Given the description of an element on the screen output the (x, y) to click on. 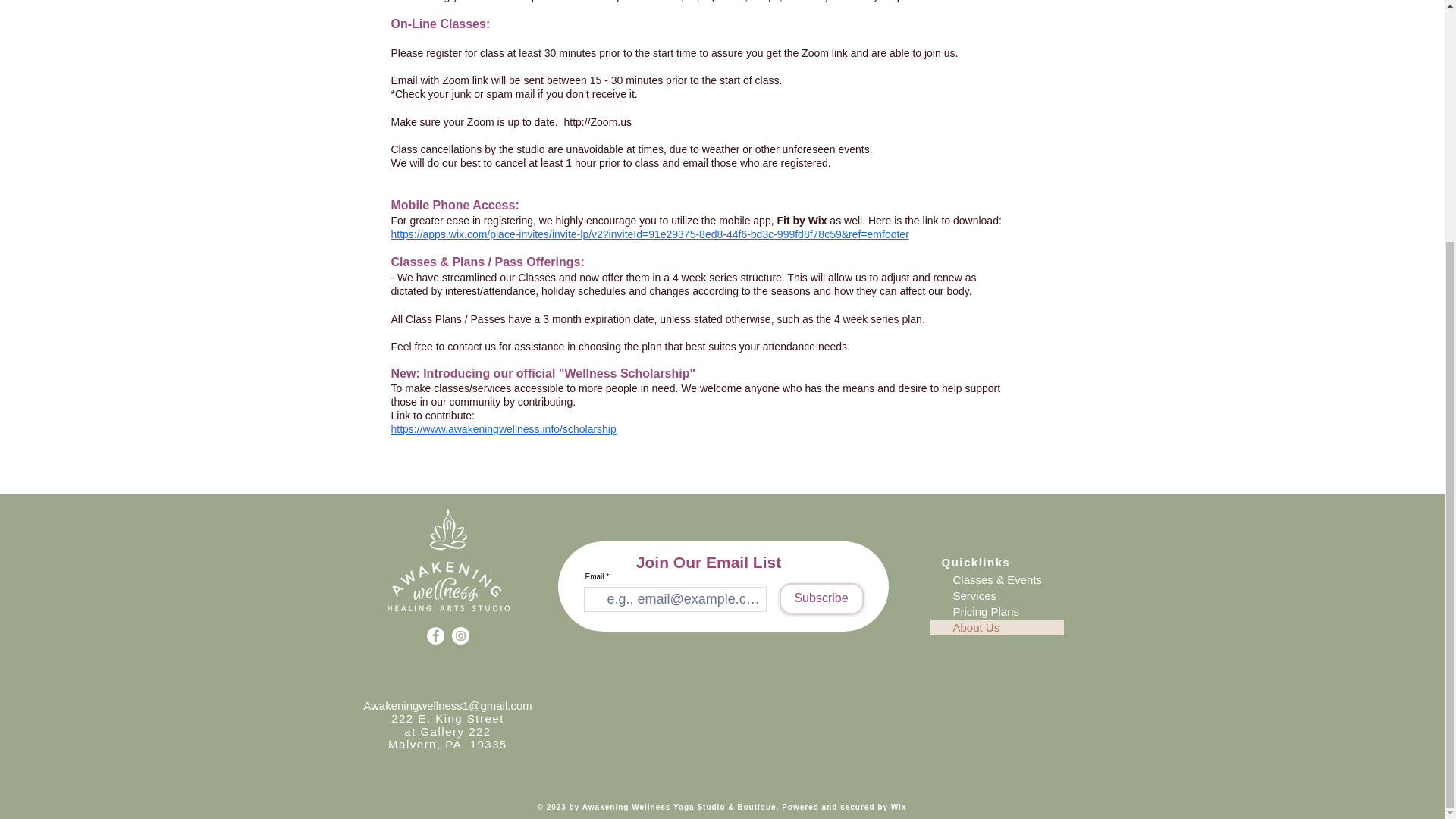
About Us (996, 627)
Pricing Plans (996, 611)
Wix (899, 807)
Subscribe (820, 598)
Services (996, 595)
